Given the description of an element on the screen output the (x, y) to click on. 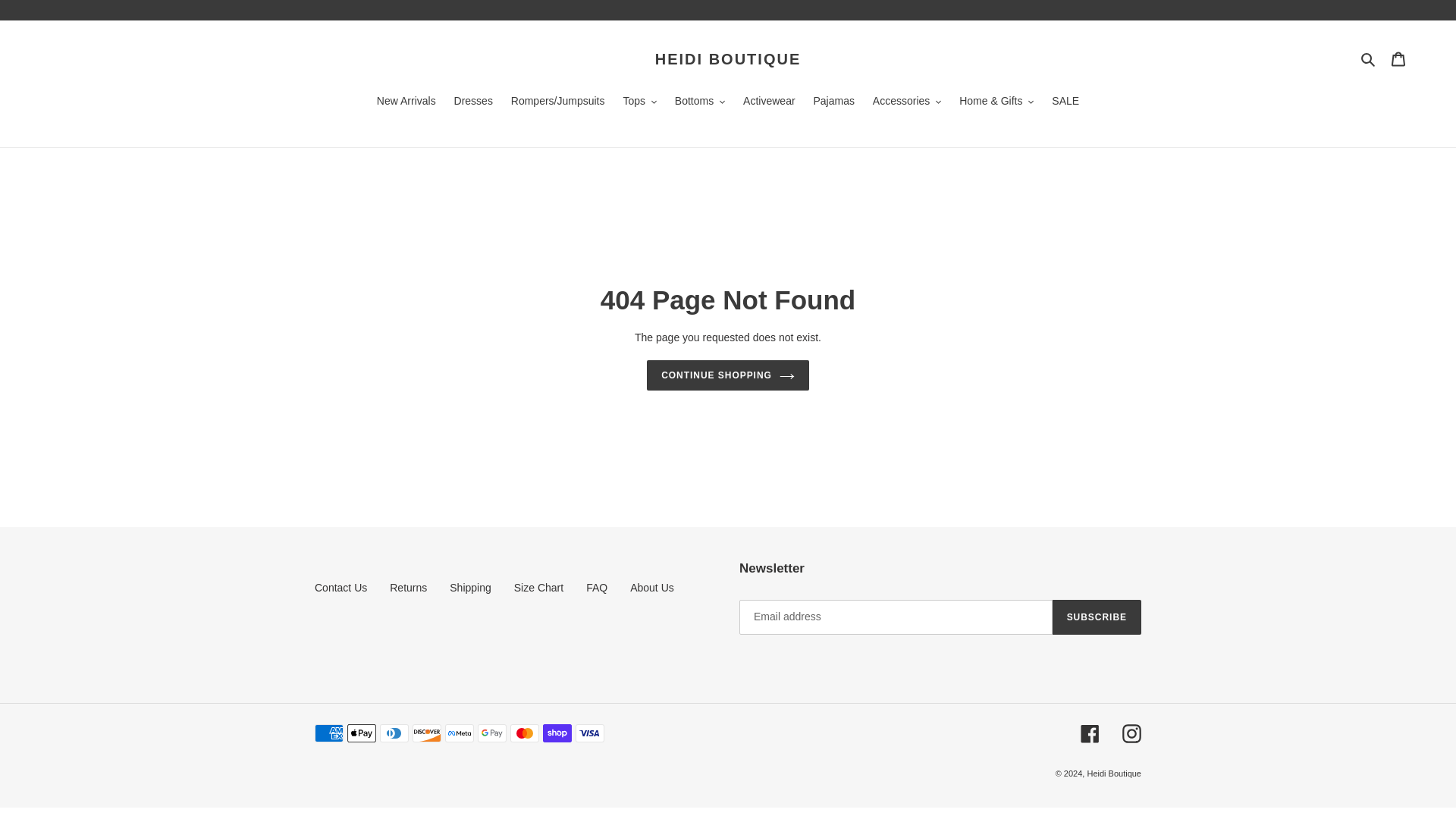
Search (1368, 58)
New Arrivals (406, 102)
Cart (1397, 58)
HEIDI BOUTIQUE (727, 58)
